Given the description of an element on the screen output the (x, y) to click on. 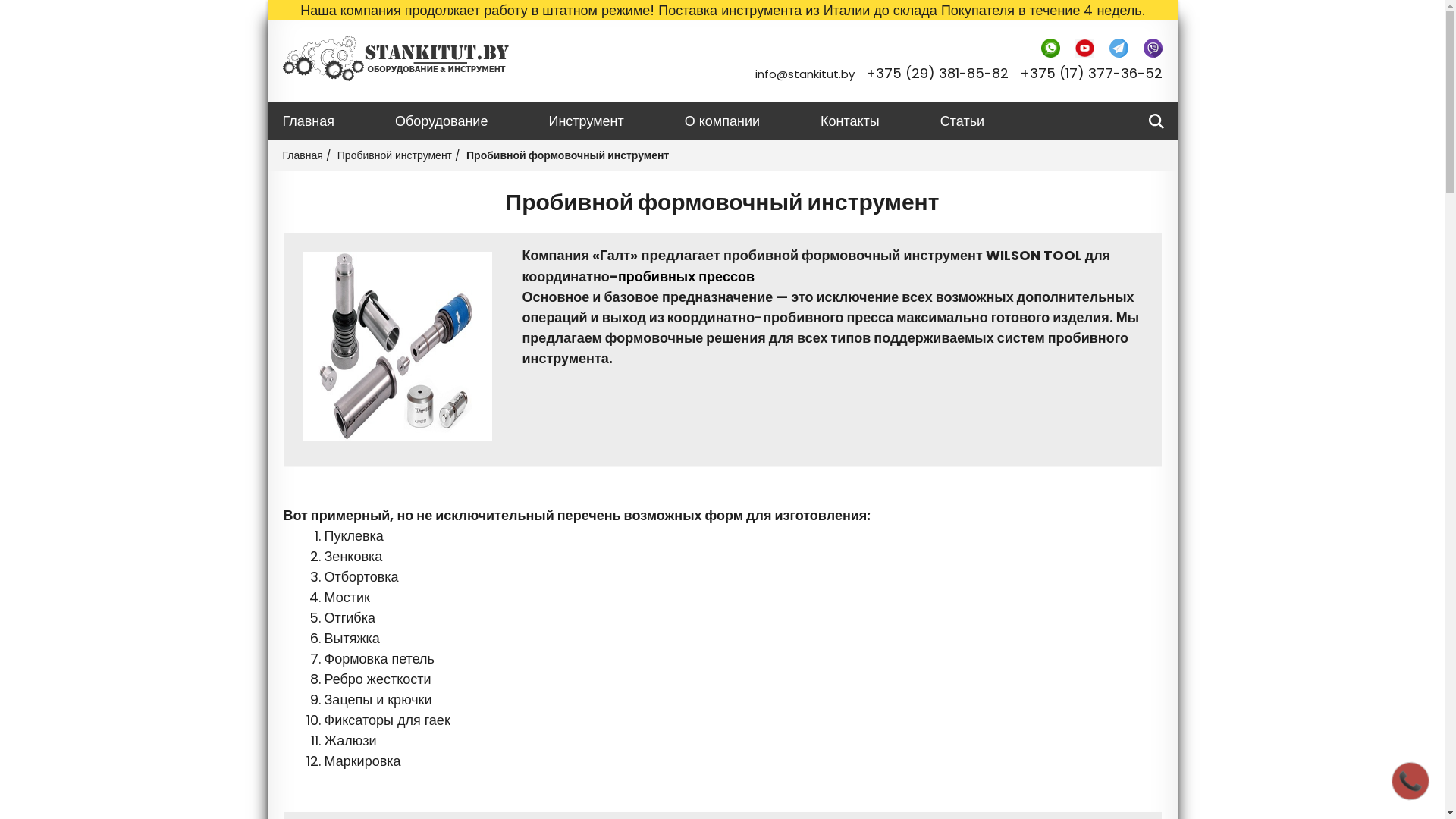
info@stankitut.by Element type: text (804, 73)
+375 (29) 381-85-82 Element type: text (937, 72)
+375 (17) 377-36-52 Element type: text (1090, 72)
